Given the description of an element on the screen output the (x, y) to click on. 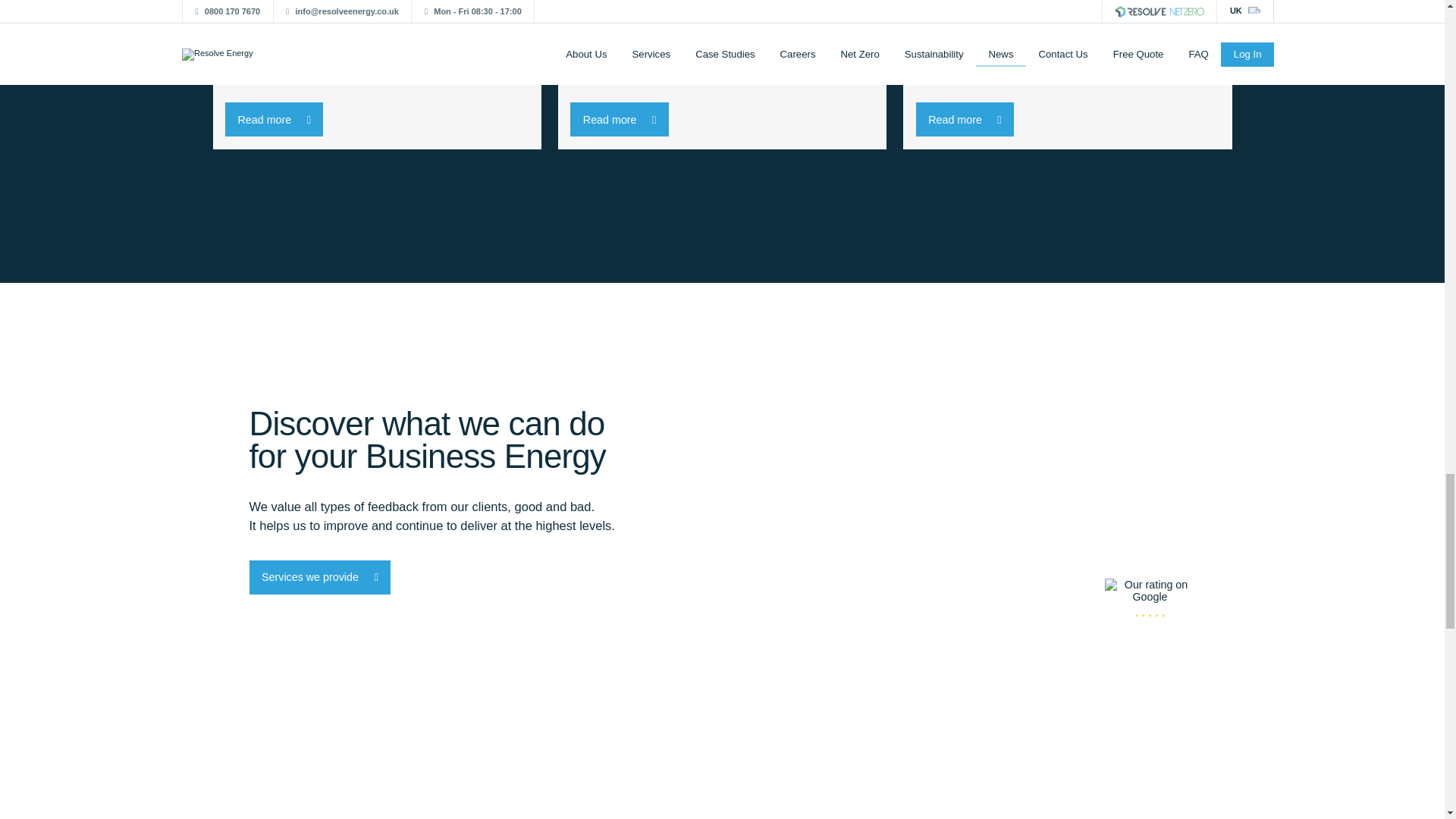
Services we provide (319, 577)
